Given the description of an element on the screen output the (x, y) to click on. 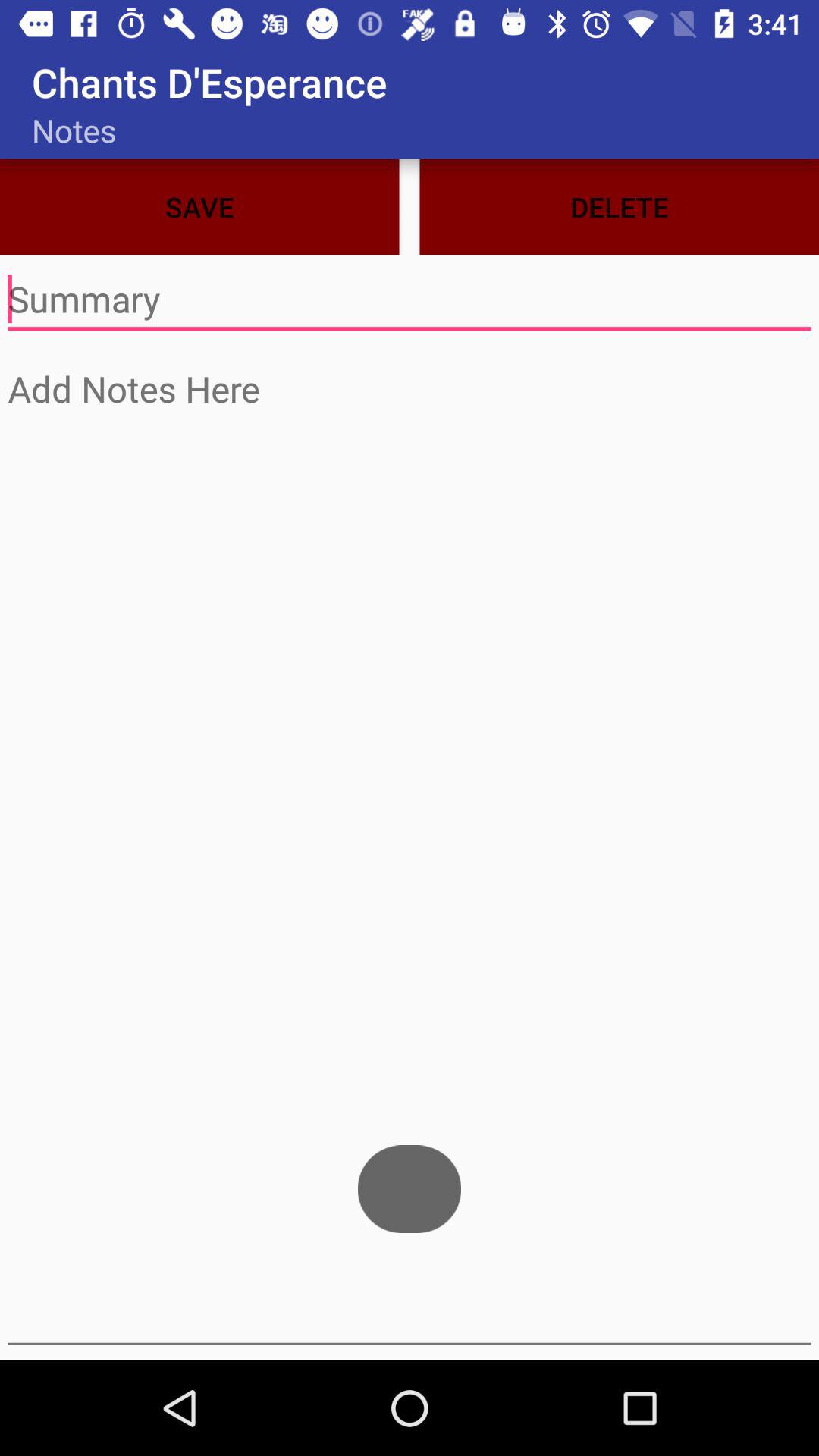
screen page (409, 852)
